Given the description of an element on the screen output the (x, y) to click on. 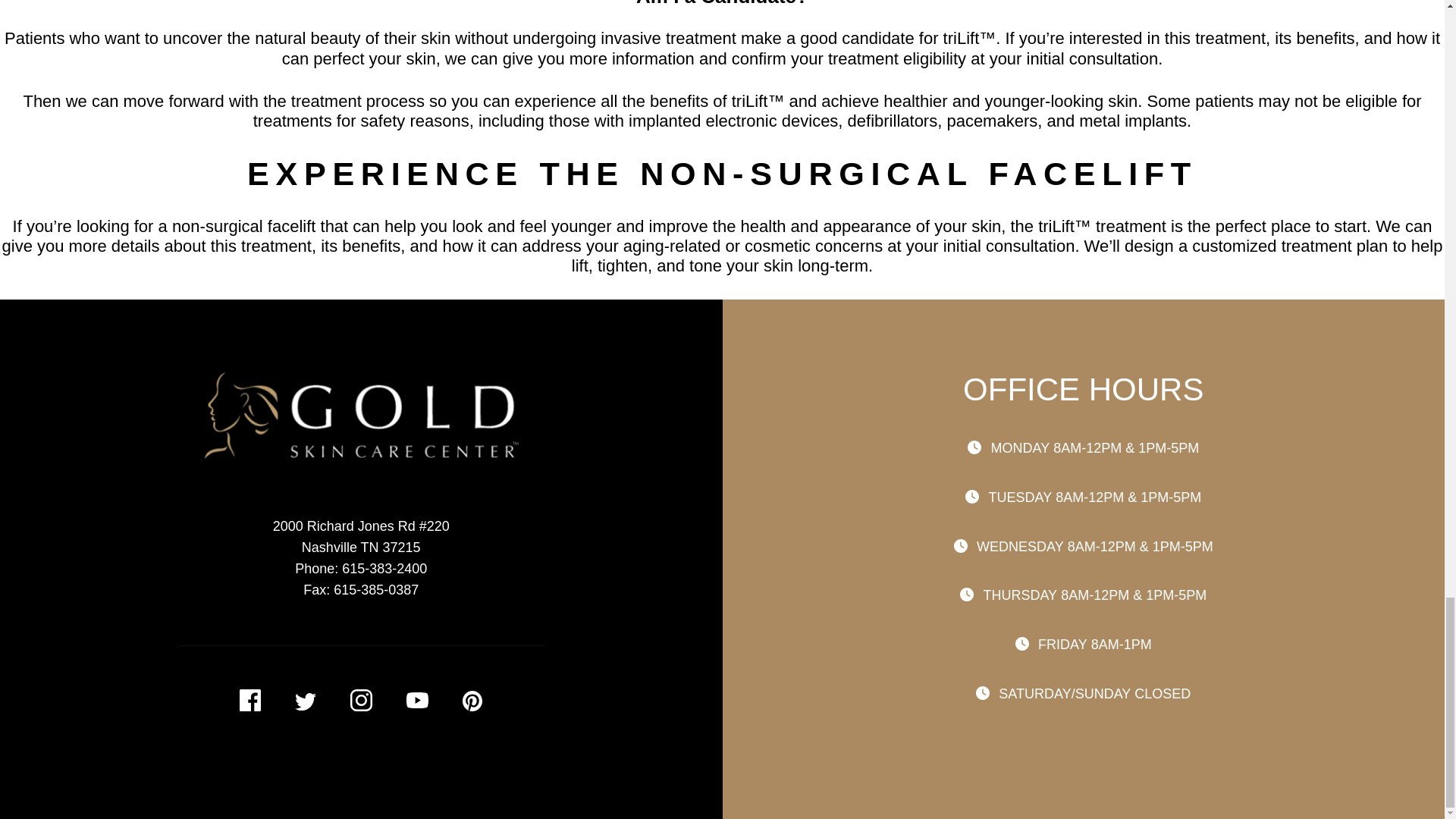
615-383-2400 (384, 568)
615-385-0387 (376, 589)
